Given the description of an element on the screen output the (x, y) to click on. 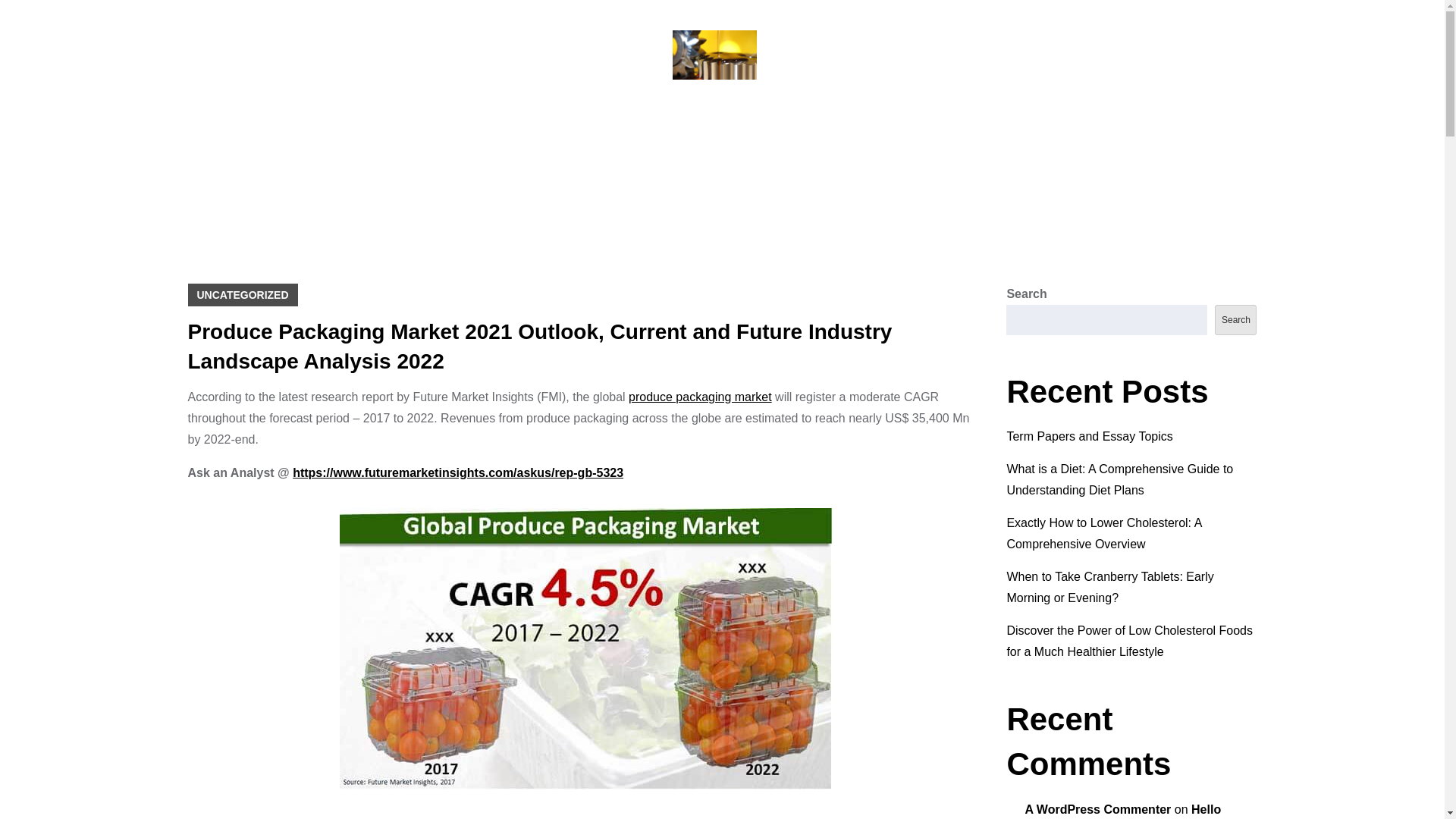
UNCATEGORIZED (242, 294)
Search (1235, 319)
When to Take Cranberry Tablets: Early Morning or Evening? (1109, 587)
Exactly How to Lower Cholesterol: A Comprehensive Overview (1103, 533)
Term Papers and Essay Topics (1089, 436)
Hello world! (1123, 811)
A WordPress Commenter (1097, 809)
produce packaging market (699, 396)
INDUSTRY NEWS ANALYSIS (722, 116)
